Given the description of an element on the screen output the (x, y) to click on. 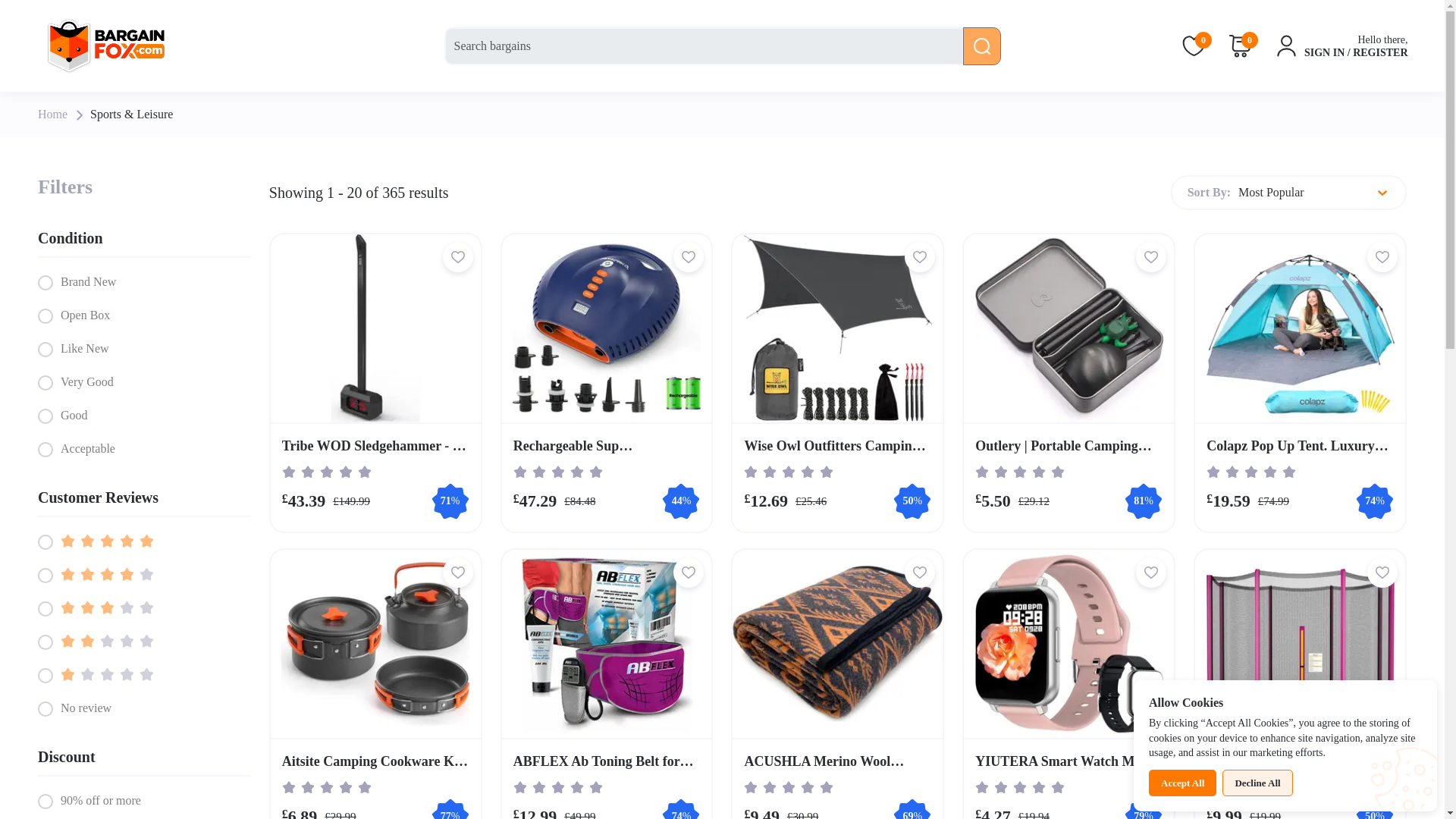
Accept All (1181, 782)
Shopping Cart (1240, 43)
wishlist (688, 256)
condition-like-new (44, 349)
Home (51, 113)
wishlist (1382, 572)
discount-90 (44, 801)
Decline All (1257, 782)
condition-brand-new (44, 282)
wishlist (1382, 256)
0 (1240, 43)
wishlist (688, 572)
0 (1193, 43)
Wishlist (1193, 43)
condition-open-box (44, 315)
